Given the description of an element on the screen output the (x, y) to click on. 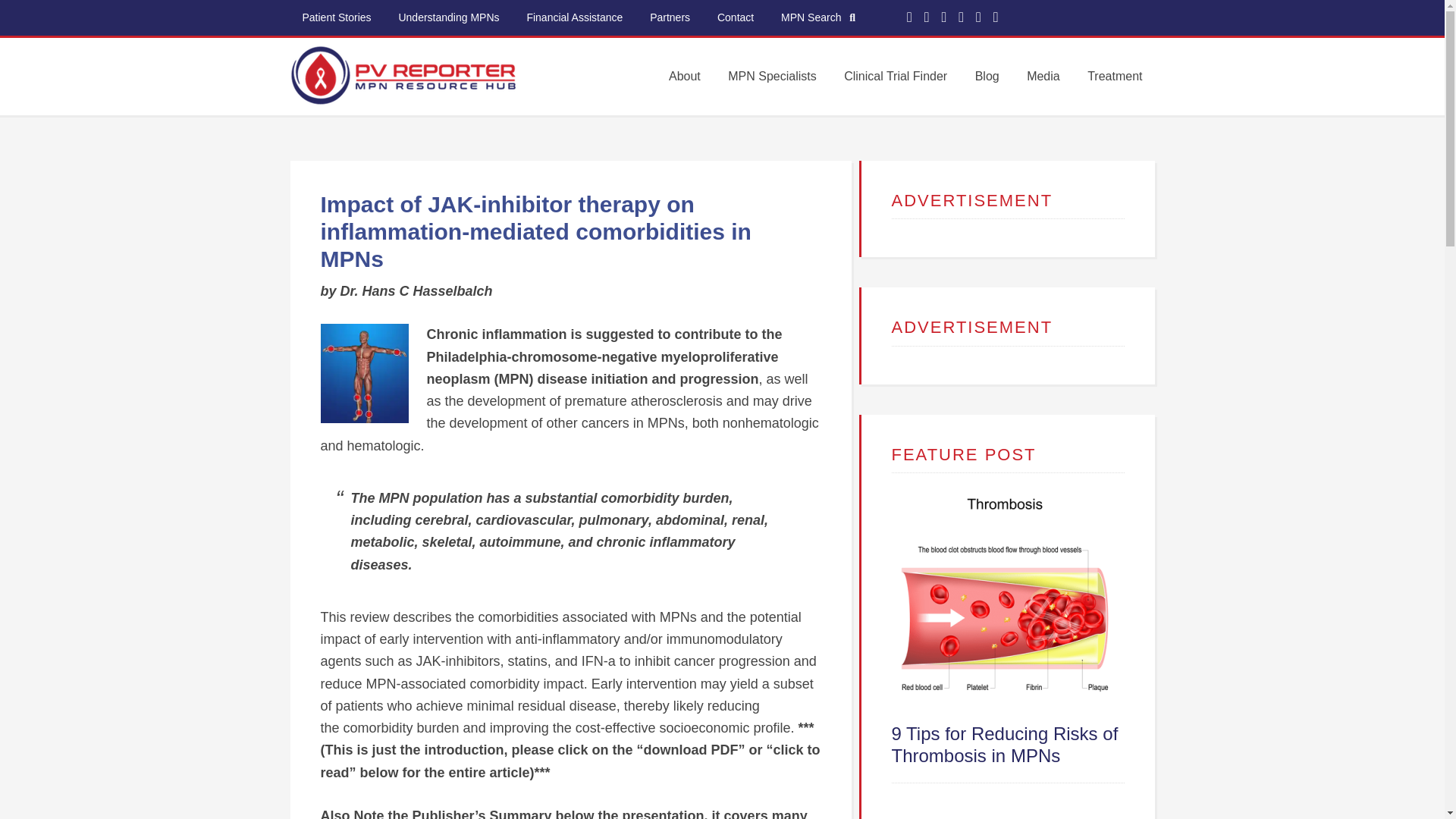
Understanding MPNs (448, 17)
MPN Search (817, 18)
Blog (986, 76)
Financial Assistance (573, 17)
Patient Stories (335, 17)
MPN Search (817, 18)
About (684, 76)
Clinical Trial Finder (895, 76)
Partners (669, 17)
Contact (734, 17)
PV REPORTER (402, 90)
Media (1042, 76)
MPN Specialists (772, 76)
